Given the description of an element on the screen output the (x, y) to click on. 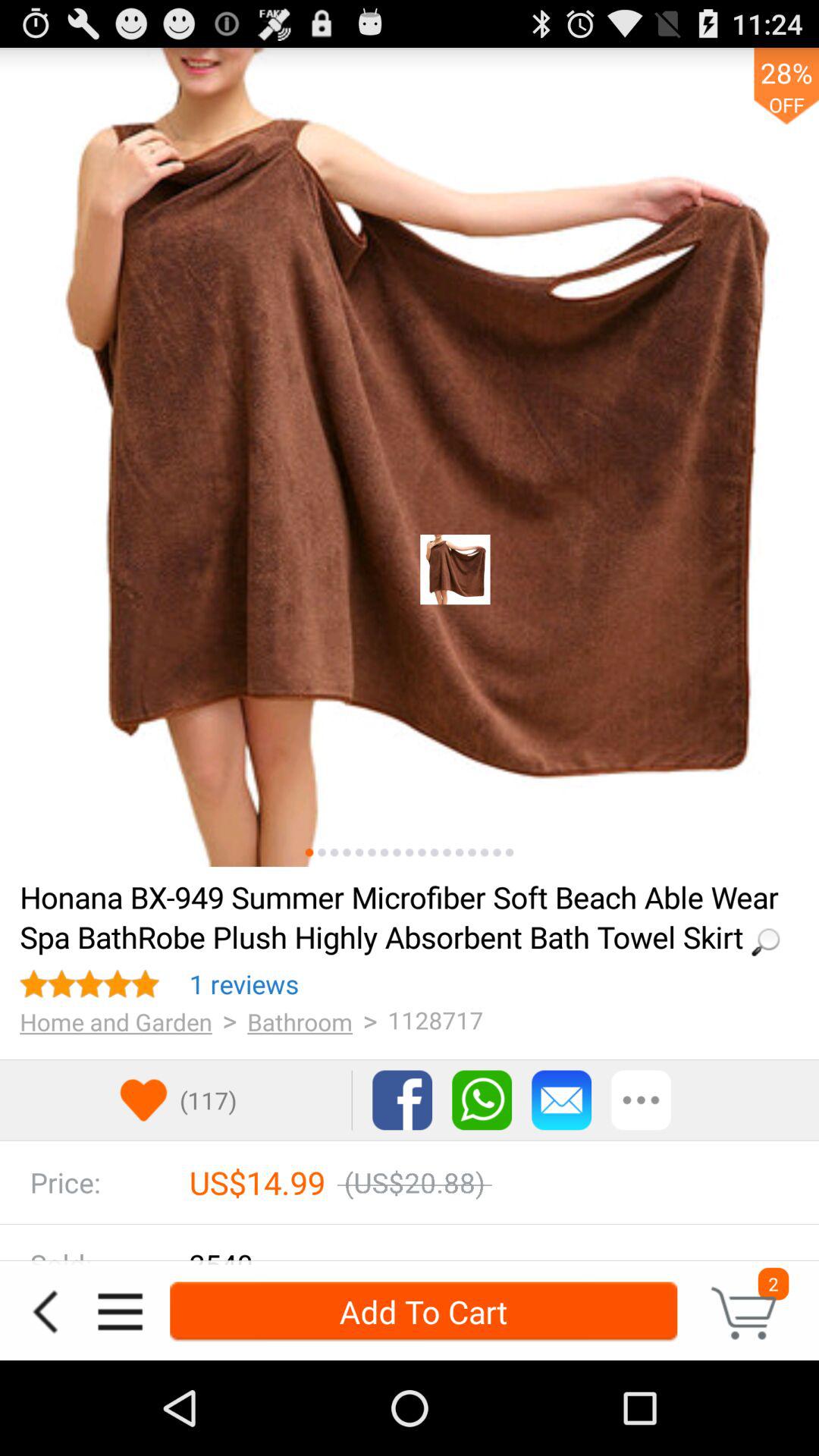
go to options (641, 1100)
